Given the description of an element on the screen output the (x, y) to click on. 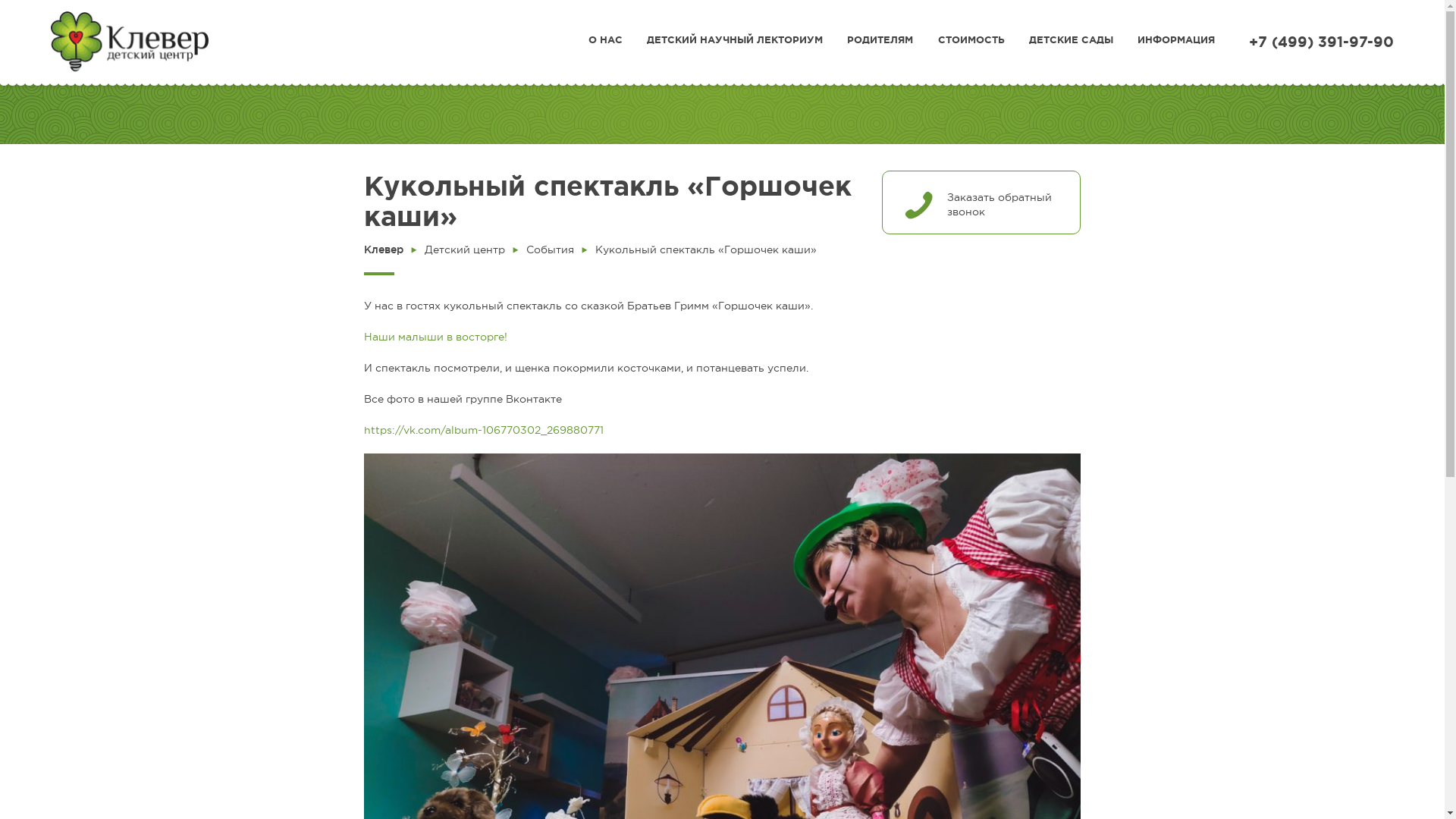
https://vk.com/album-106770302_269880771 Element type: text (483, 429)
+7 (499) 391-97-90 Element type: text (1320, 41)
